Given the description of an element on the screen output the (x, y) to click on. 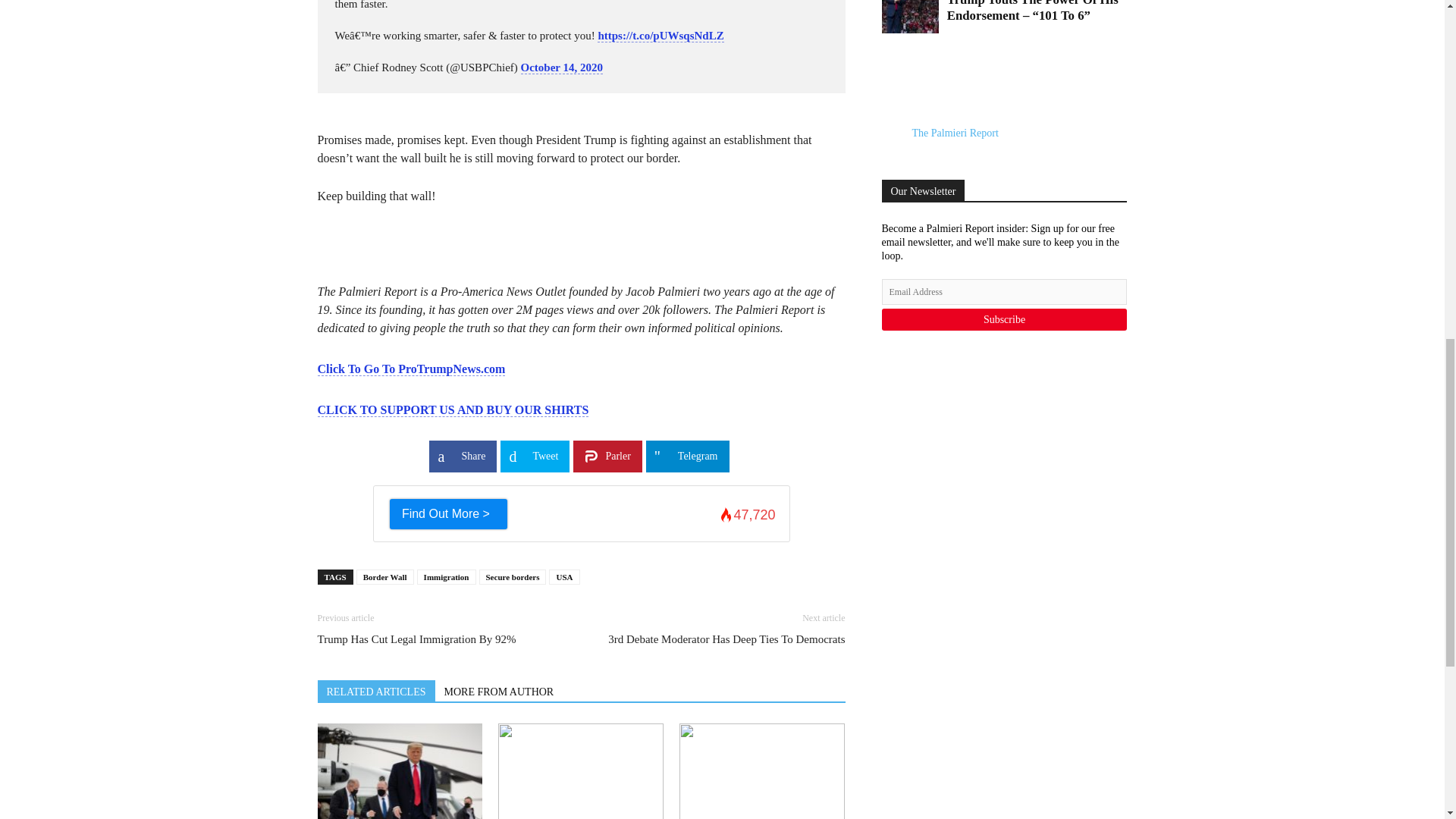
Share on Tweet (534, 456)
Share on Parler (607, 456)
Share on Telegram (687, 456)
Share on Share (462, 456)
Trump Says Biden Knew All About Mar-A-Lago Raid (399, 771)
